Given the description of an element on the screen output the (x, y) to click on. 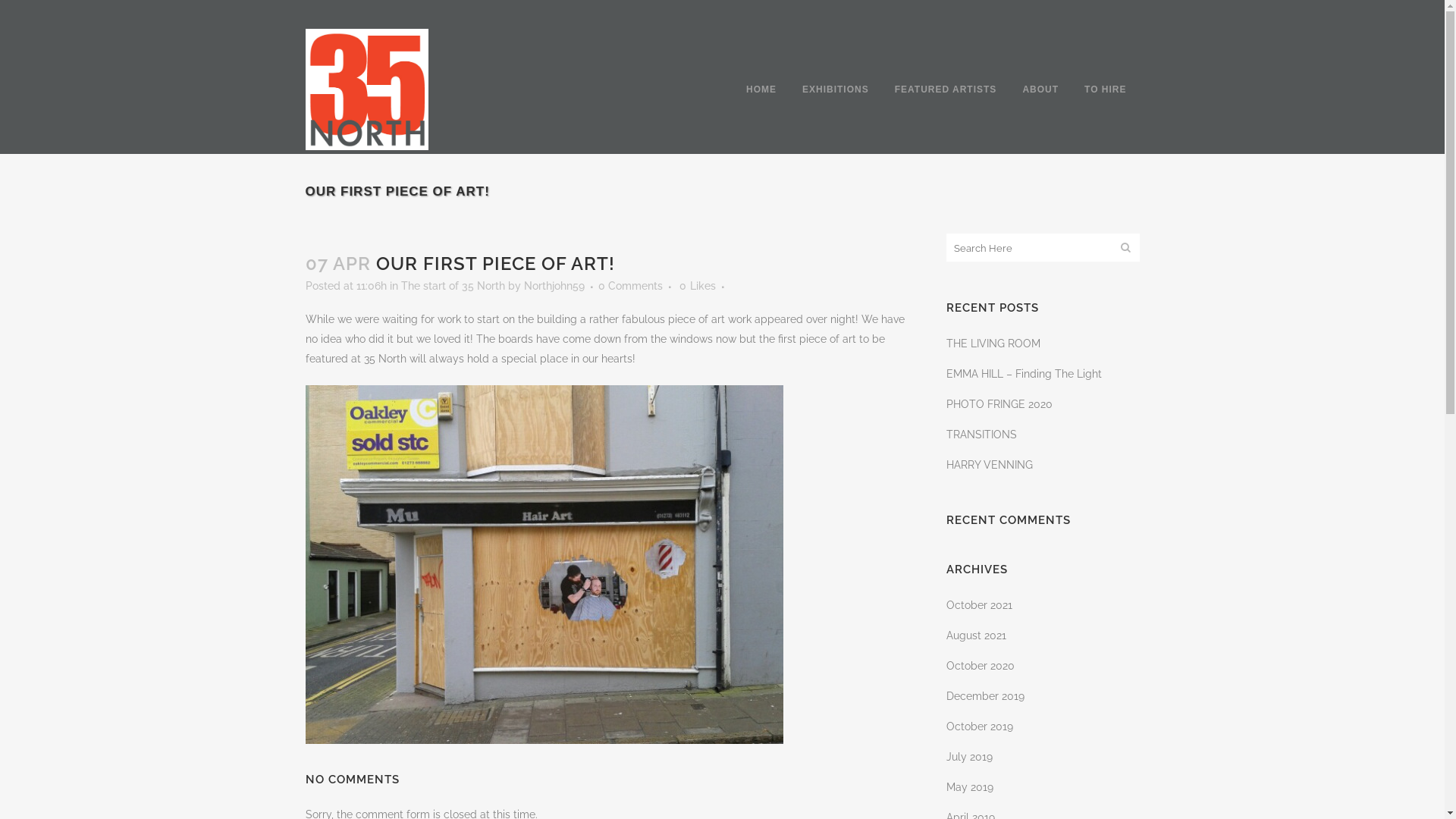
HARRY VENNING Element type: text (989, 464)
0 Comments Element type: text (629, 285)
ABOUT Element type: text (1040, 89)
October 2020 Element type: text (980, 665)
THE LIVING ROOM Element type: text (993, 343)
October 2019 Element type: text (979, 726)
July 2019 Element type: text (969, 756)
HOME Element type: text (761, 89)
October 2021 Element type: text (979, 605)
EXHIBITIONS Element type: text (835, 89)
December 2019 Element type: text (985, 696)
The start of 35 North Element type: text (452, 285)
August 2021 Element type: text (976, 635)
May 2019 Element type: text (969, 787)
TRANSITIONS Element type: text (981, 434)
0 Likes Element type: text (697, 285)
Northjohn59 Element type: text (553, 285)
TO HIRE Element type: text (1105, 89)
FEATURED ARTISTS Element type: text (945, 89)
PHOTO FRINGE 2020 Element type: text (999, 404)
